Given the description of an element on the screen output the (x, y) to click on. 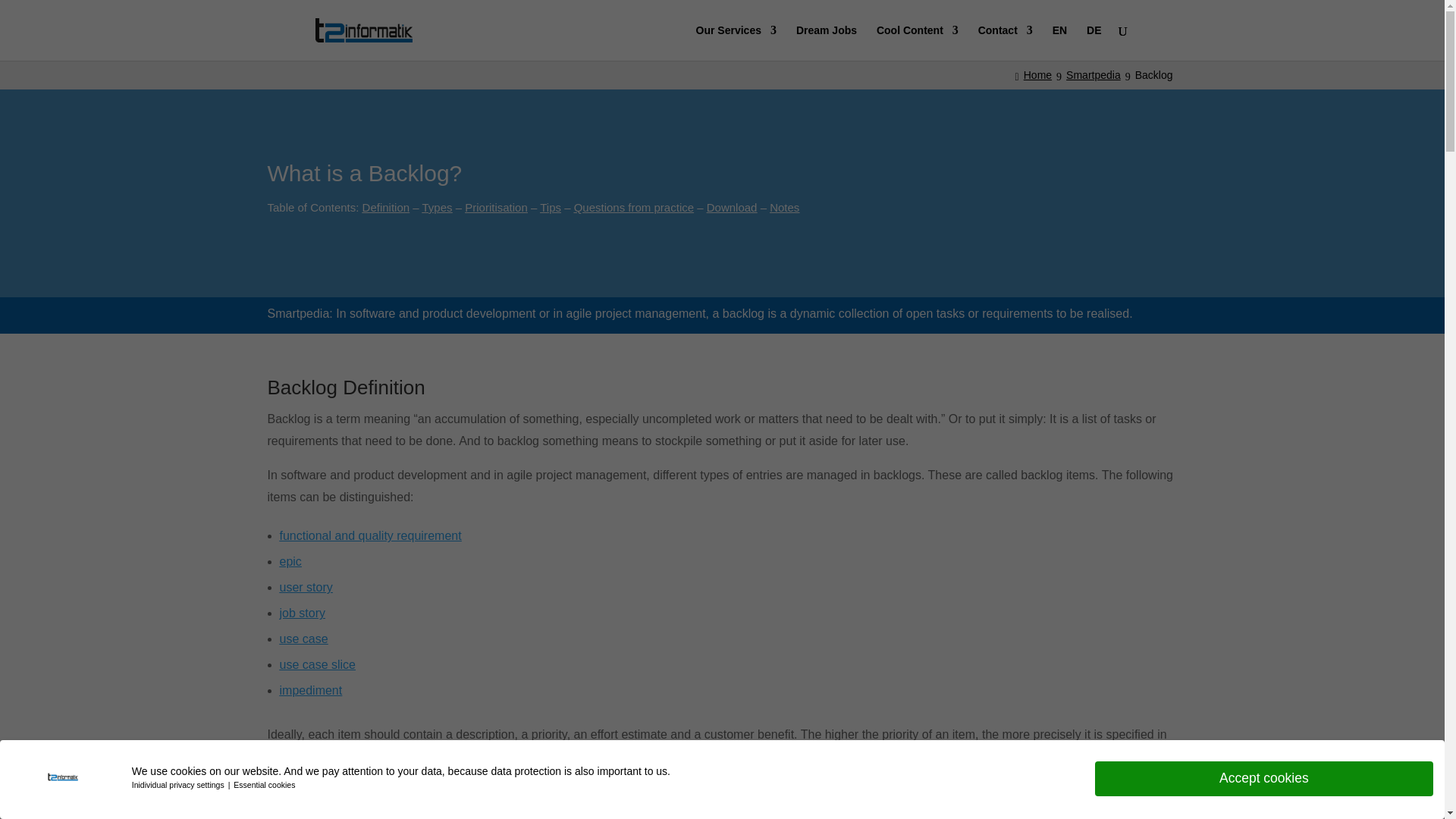
Smartpedia (1095, 74)
Our Services (735, 42)
Home (1035, 74)
Cool Content (917, 42)
Definition (386, 206)
Backlog types: product, release and sprint backlog (962, 806)
Dream Jobs (826, 42)
Contact (1005, 42)
